Given the description of an element on the screen output the (x, y) to click on. 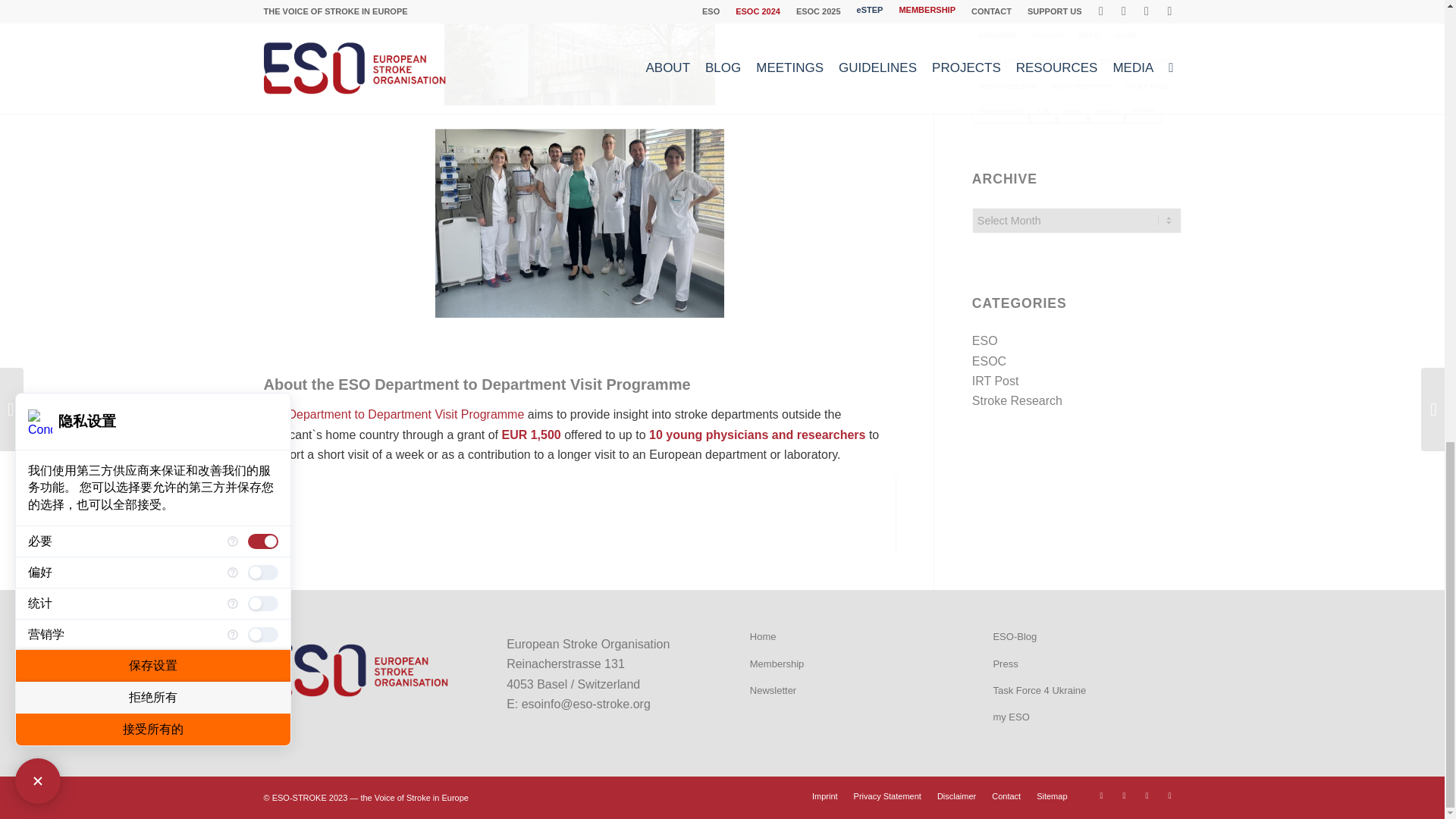
Facebook (1101, 794)
LinkedIn (1169, 794)
X (1124, 794)
Youtube (1146, 794)
